Given the description of an element on the screen output the (x, y) to click on. 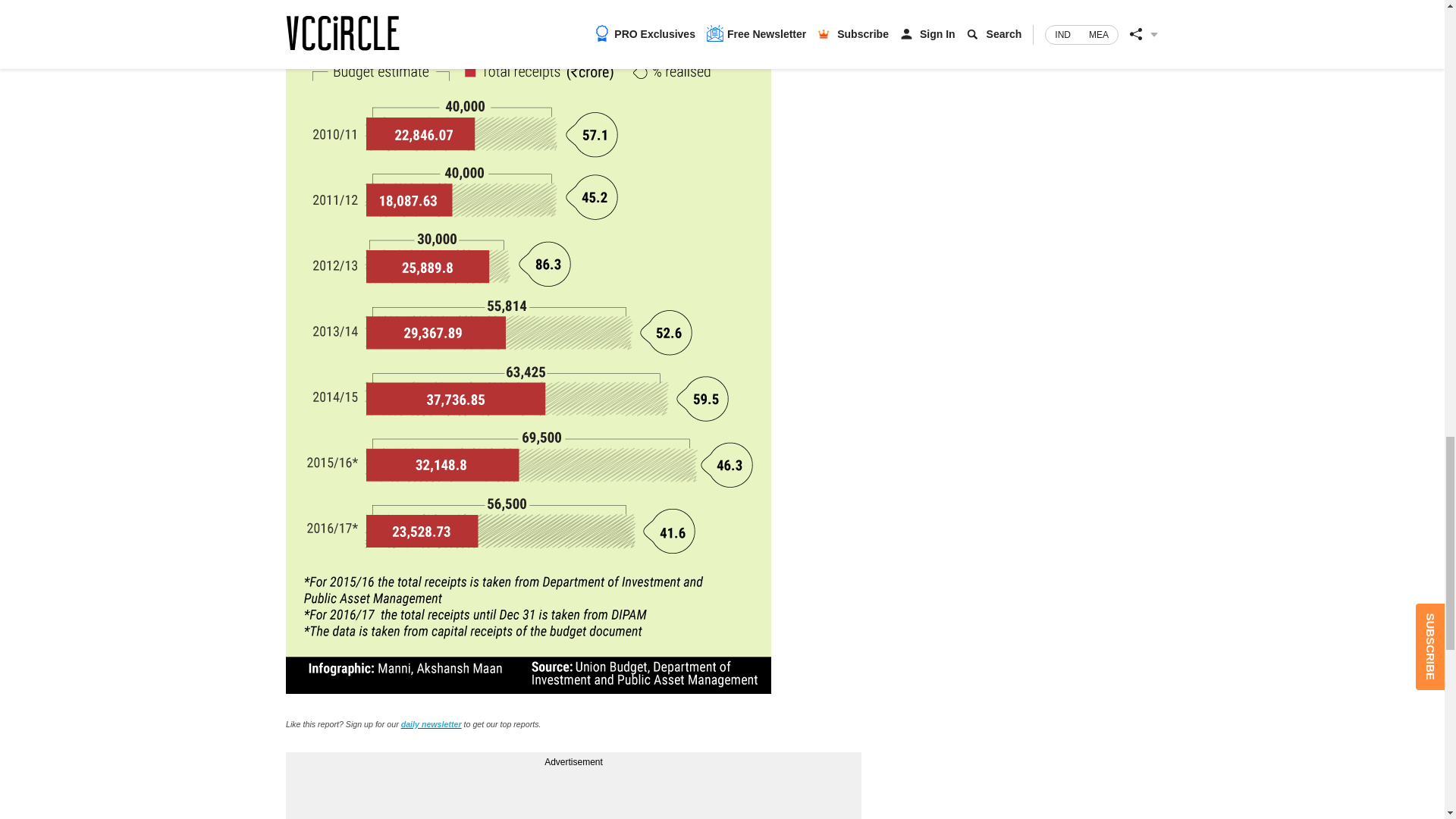
daily newsletter (431, 723)
